Given the description of an element on the screen output the (x, y) to click on. 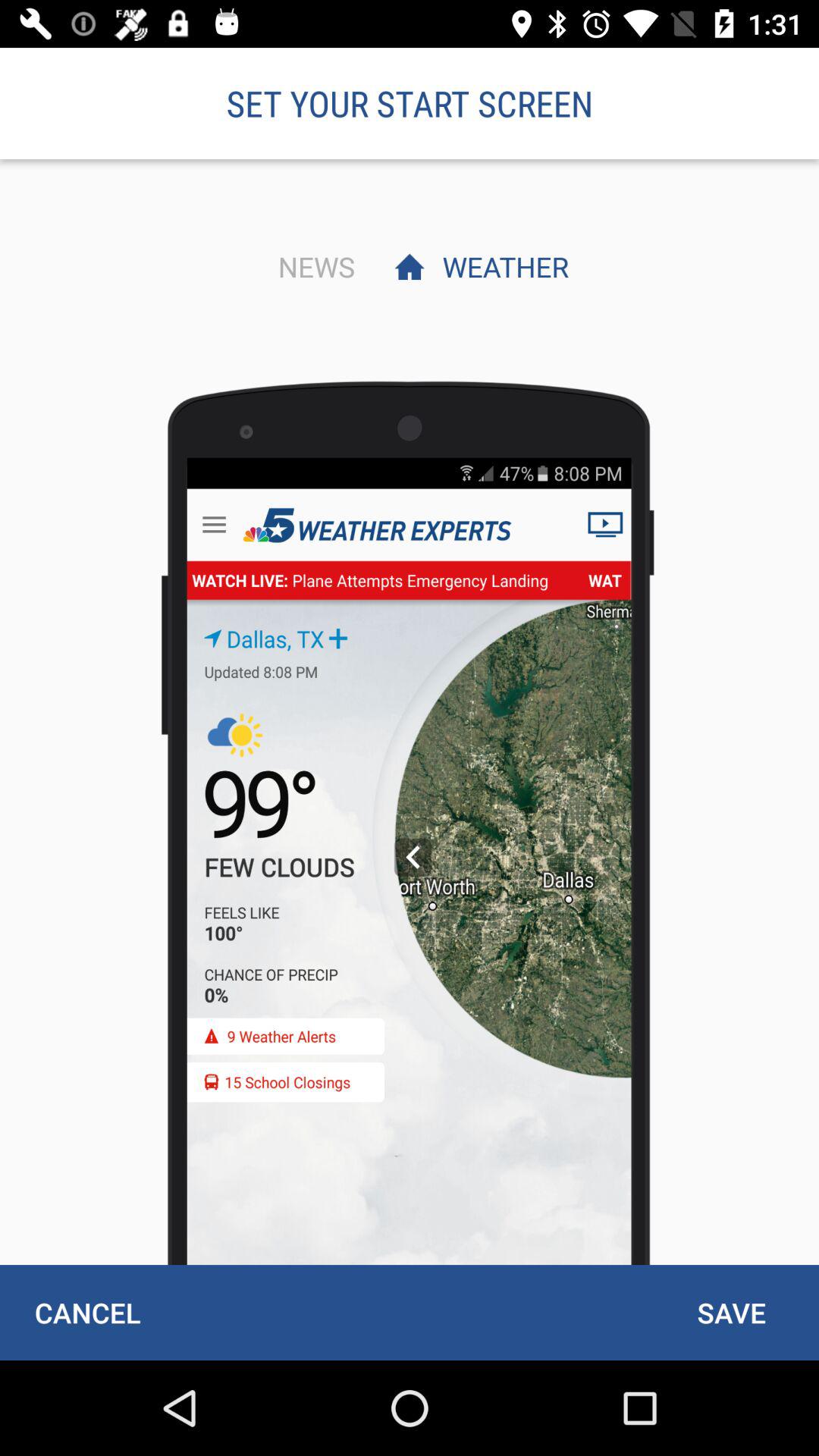
launch the item to the left of save (87, 1312)
